Given the description of an element on the screen output the (x, y) to click on. 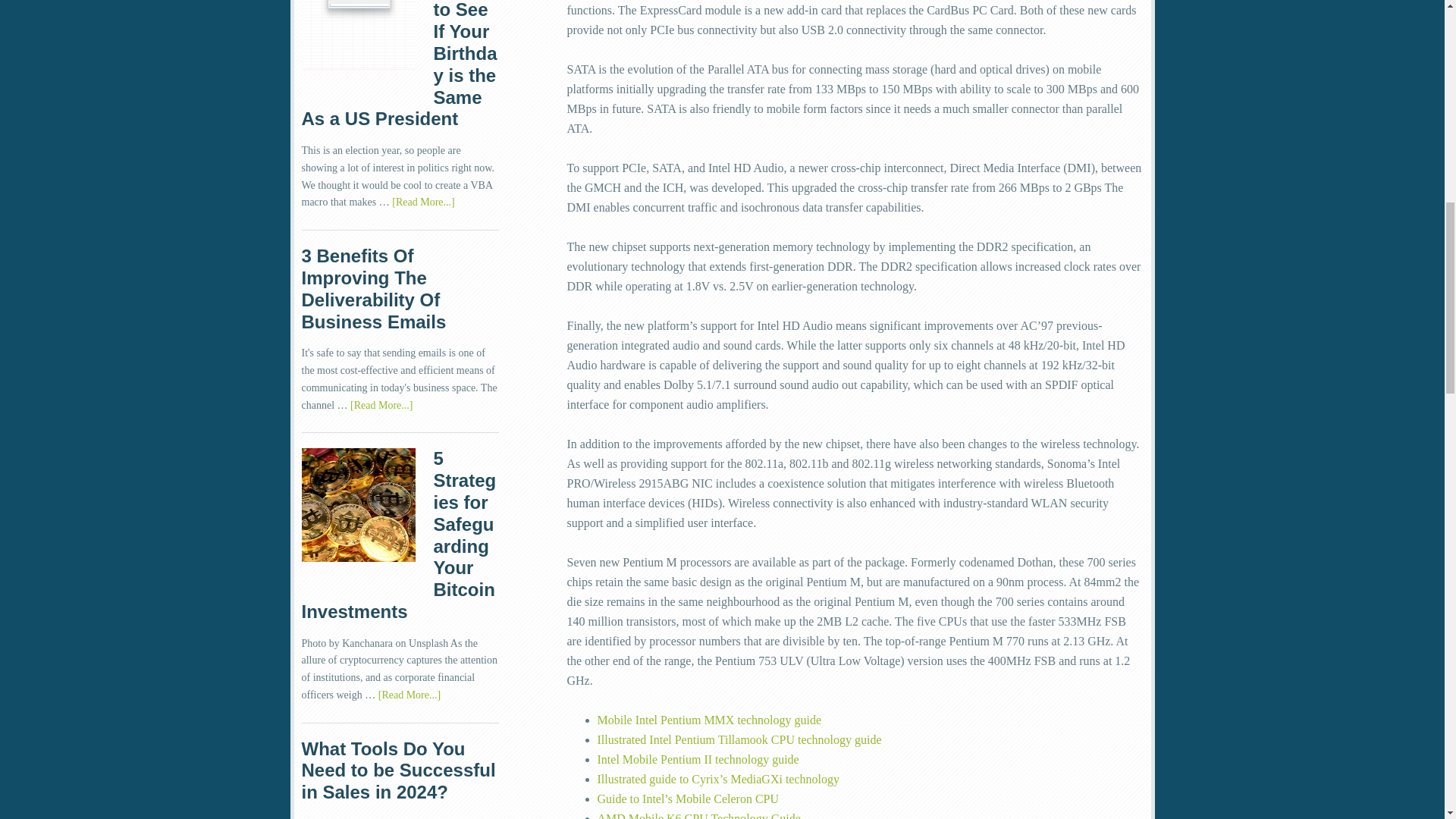
AMD Mobile K6 CPU Technology Guide (698, 815)
Illustrated Intel Pentium Tillamook CPU technology guide (739, 739)
Mobile Intel Pentium MMX technology guide (709, 719)
Intel Mobile Pentium II technology guide (697, 758)
